Given the description of an element on the screen output the (x, y) to click on. 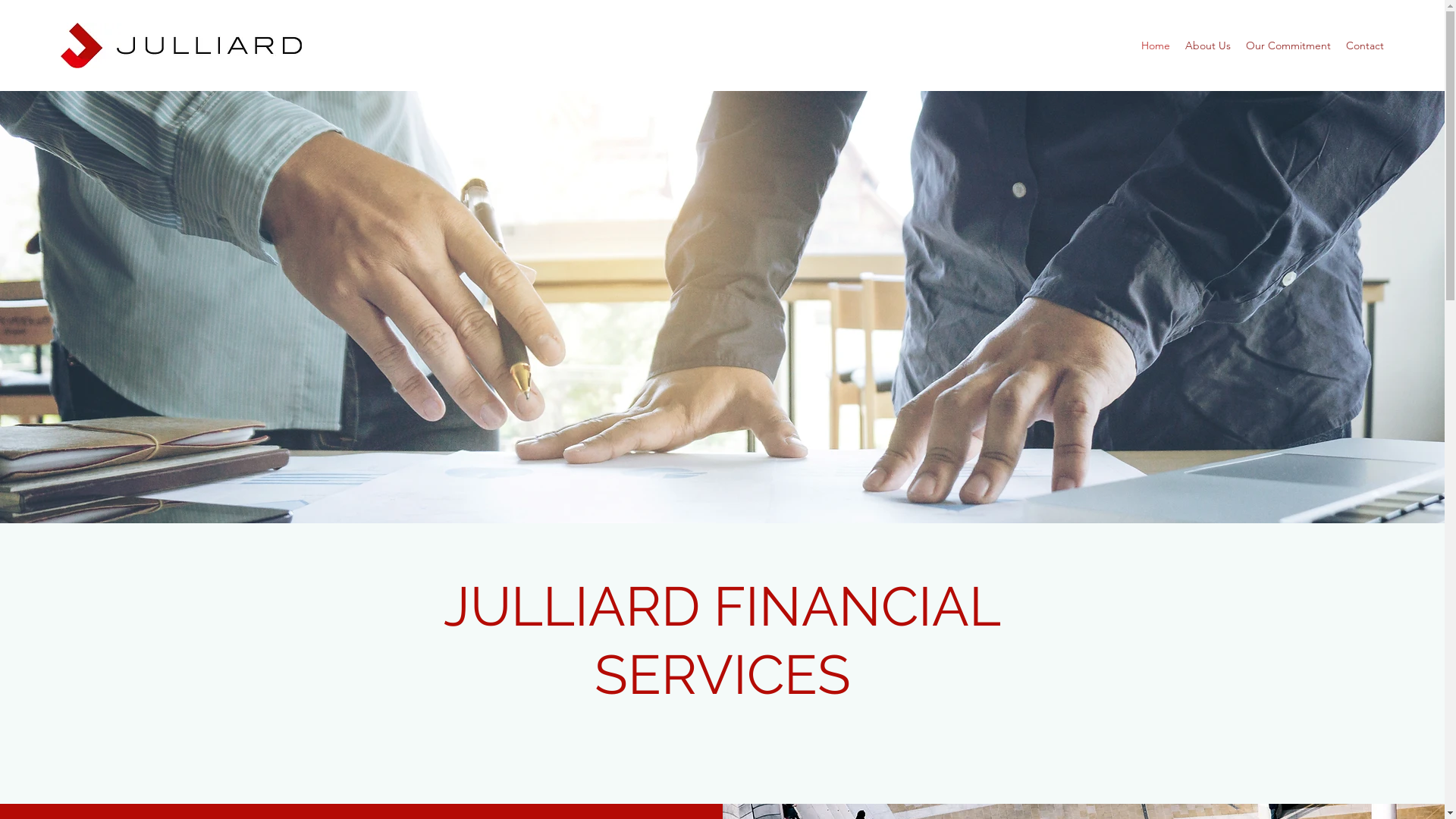
About Us Element type: text (1207, 45)
Home Element type: text (1155, 45)
Contact Element type: text (1364, 45)
Our Commitment Element type: text (1288, 45)
